Given the description of an element on the screen output the (x, y) to click on. 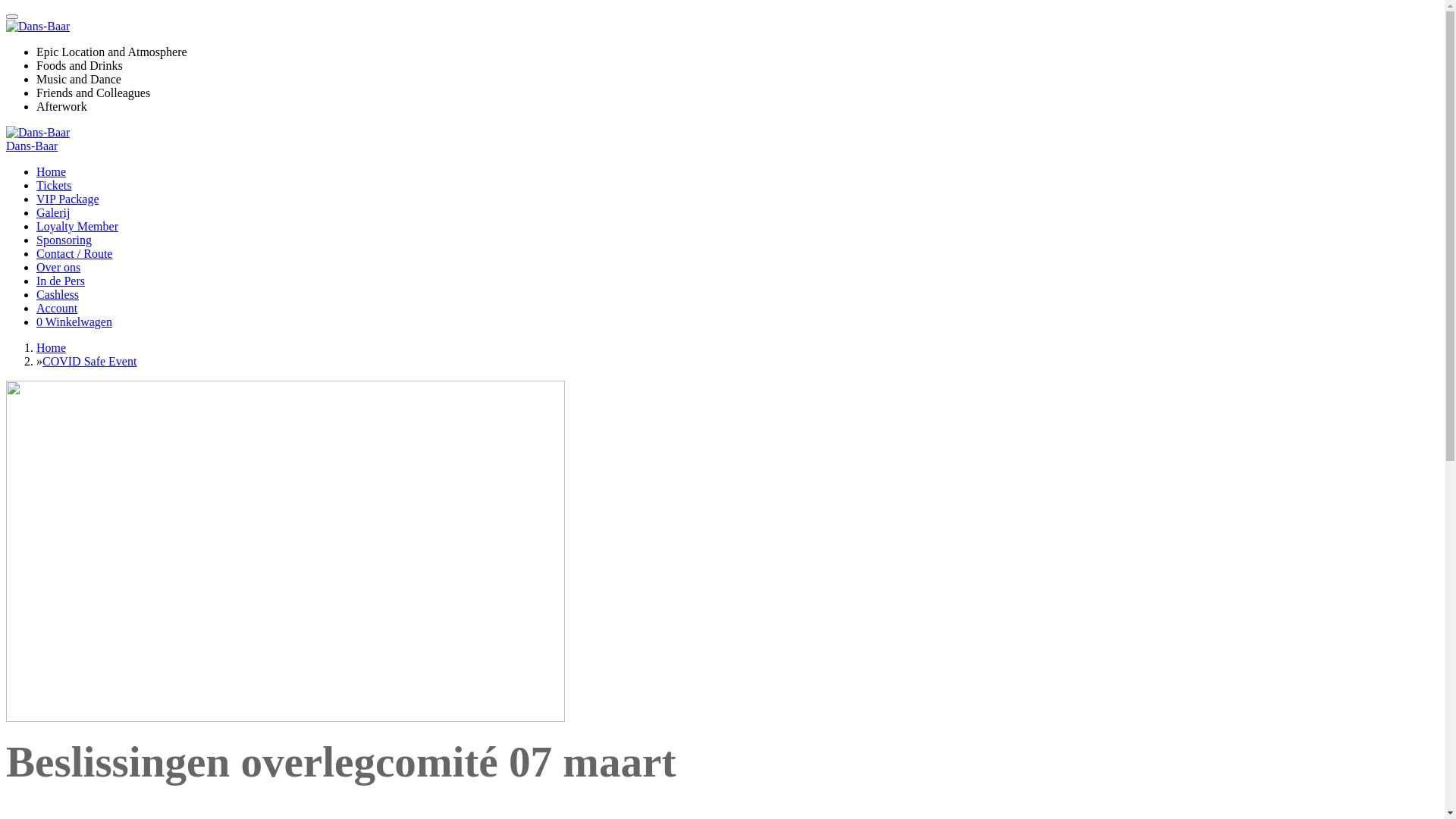
Dans-Baar Element type: text (31, 145)
Dans-Baar Element type: hover (37, 26)
Contact / Route Element type: text (74, 253)
In de Pers Element type: text (60, 280)
Account Element type: text (56, 307)
Home Element type: text (50, 171)
Galerij Element type: text (52, 212)
Loyalty Member Element type: text (77, 225)
Sponsoring Element type: text (63, 239)
Over ons Element type: text (58, 266)
Tickets Element type: text (54, 184)
VIP Package Element type: text (67, 198)
0 Winkelwagen Element type: text (74, 321)
COVID Safe Event Element type: text (89, 360)
Dans-Baar Element type: hover (37, 132)
Home Element type: text (50, 347)
Cashless Element type: text (57, 294)
